Given the description of an element on the screen output the (x, y) to click on. 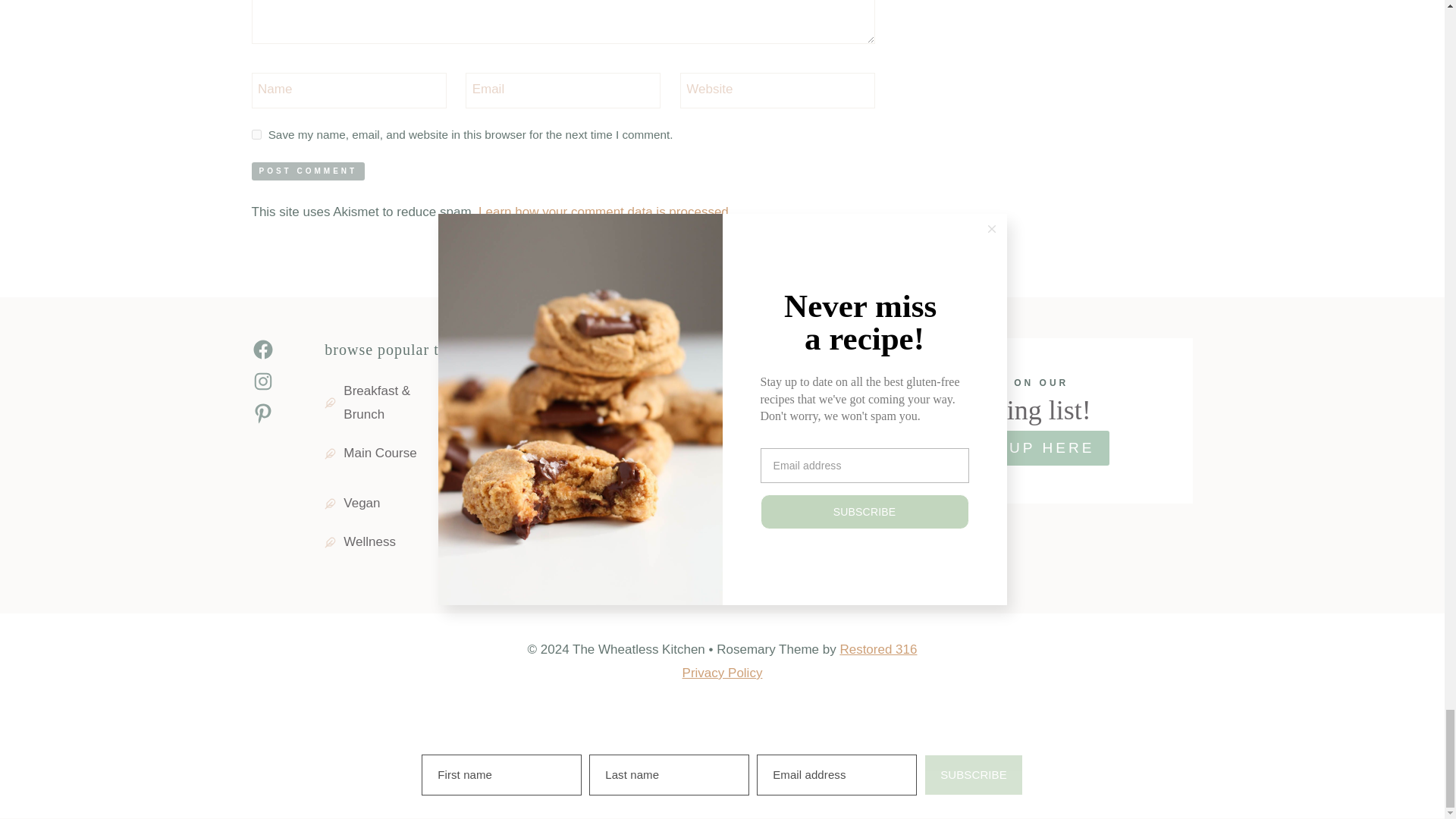
yes (256, 134)
Post Comment (308, 171)
